Given the description of an element on the screen output the (x, y) to click on. 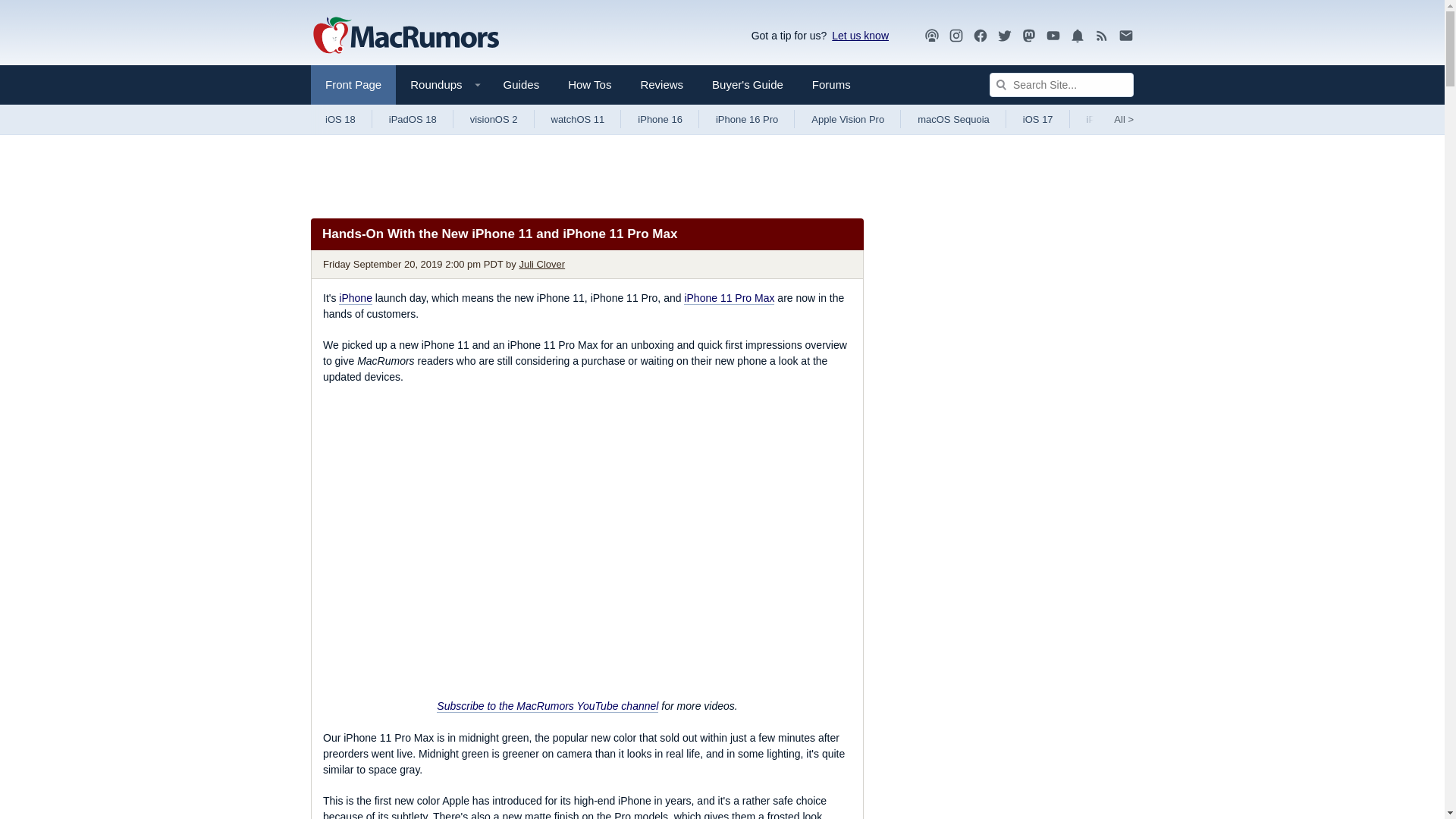
MacRumors Push Notifications (1077, 35)
MacRumors on Mastodon (1029, 35)
Instagram (956, 35)
MacRumors on Instagram (956, 35)
YouTube (1053, 35)
Twitter (1004, 35)
Notifications (1077, 35)
Twitter (1004, 35)
Facebook (980, 35)
MacRumors FaceBook Page (980, 35)
MacRumors Newsletter Signup (1126, 35)
Podcast (931, 35)
RSS (1101, 35)
How Tos (589, 84)
Mastodon (1029, 35)
